Given the description of an element on the screen output the (x, y) to click on. 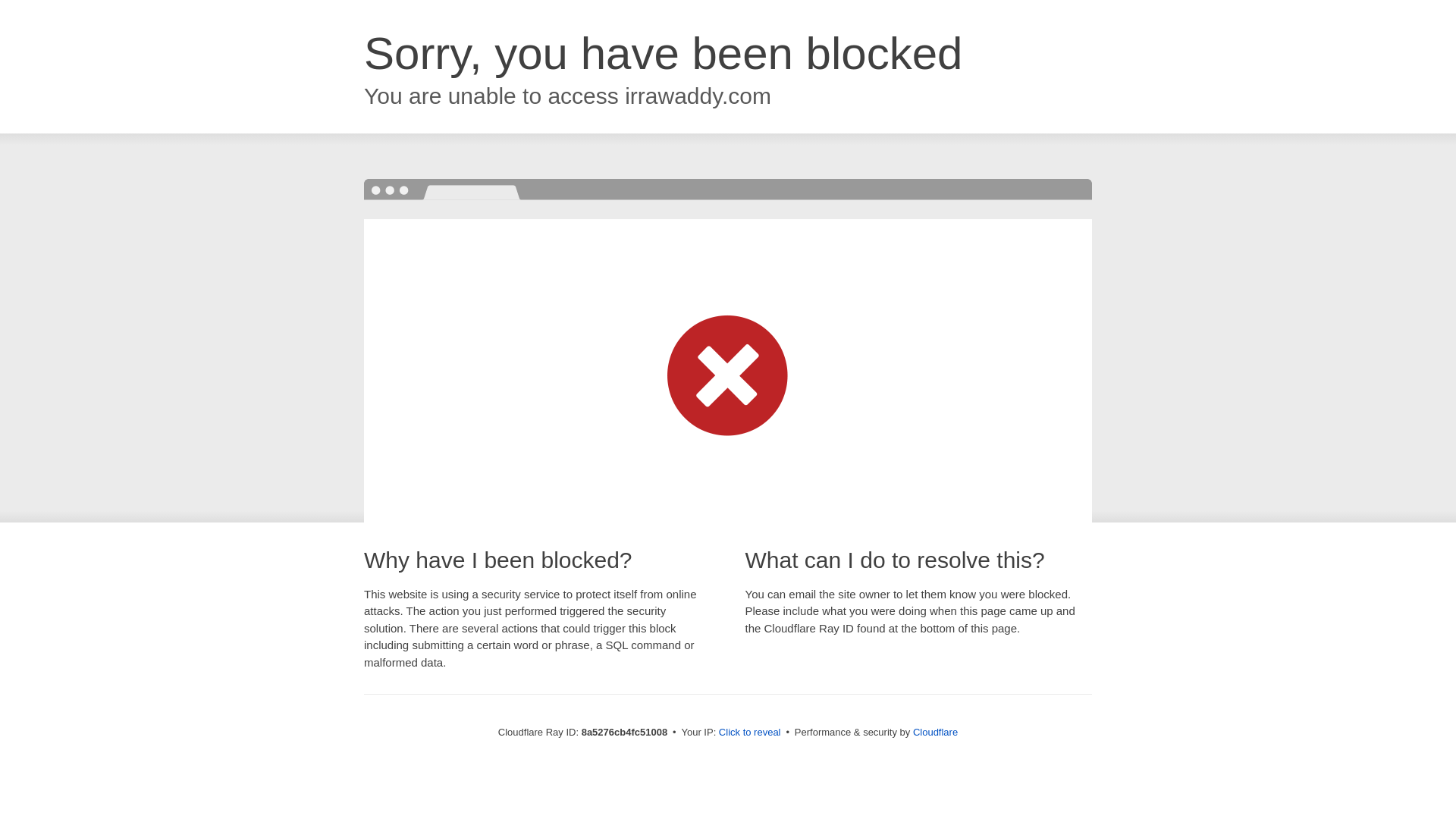
Cloudflare (935, 731)
Click to reveal (749, 732)
